Given the description of an element on the screen output the (x, y) to click on. 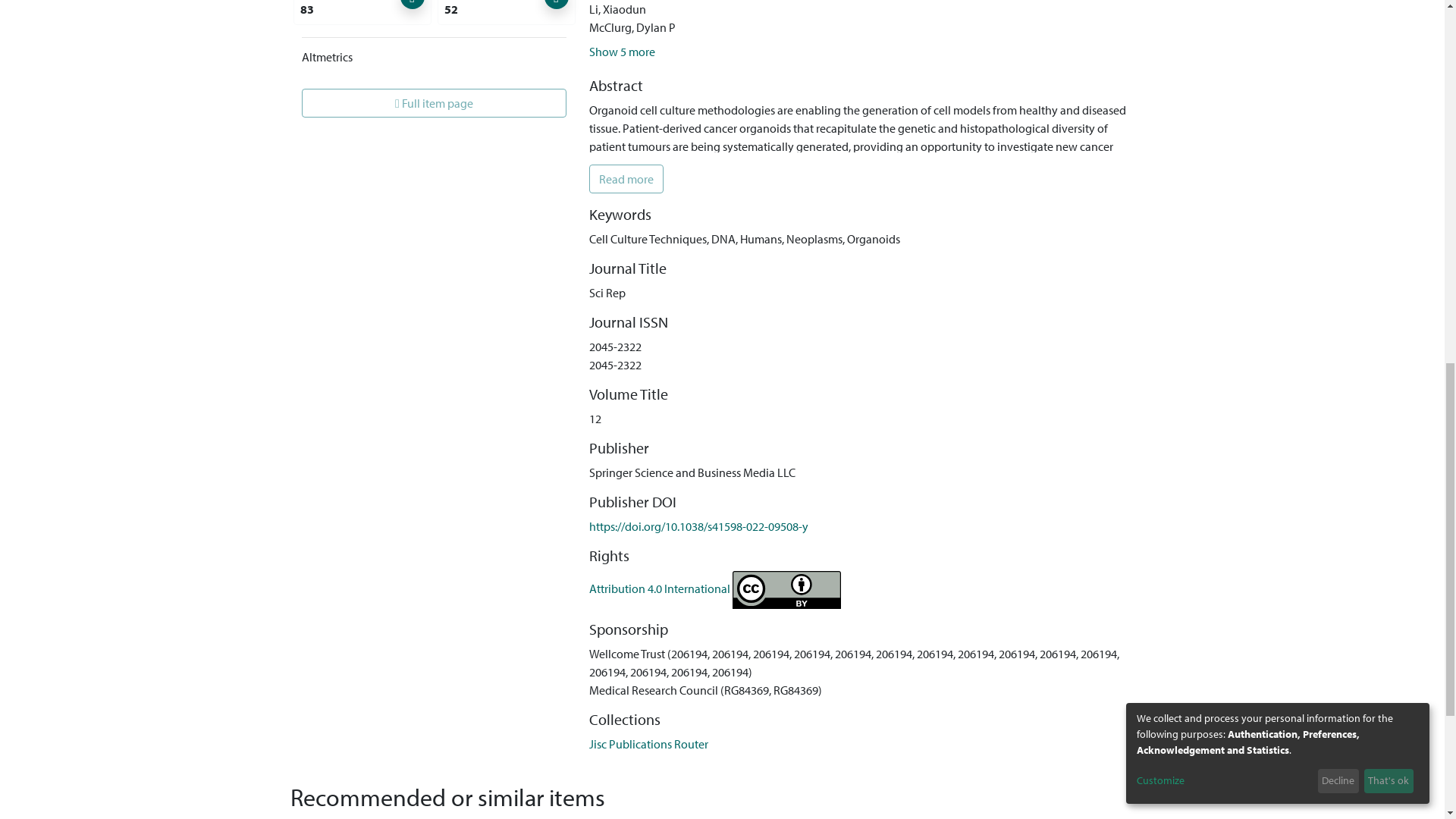
Show 5 more (622, 51)
Read more (626, 178)
Full item page (434, 102)
Jisc Publications Router (648, 743)
Attribution 4.0 International (715, 588)
